Given the description of an element on the screen output the (x, y) to click on. 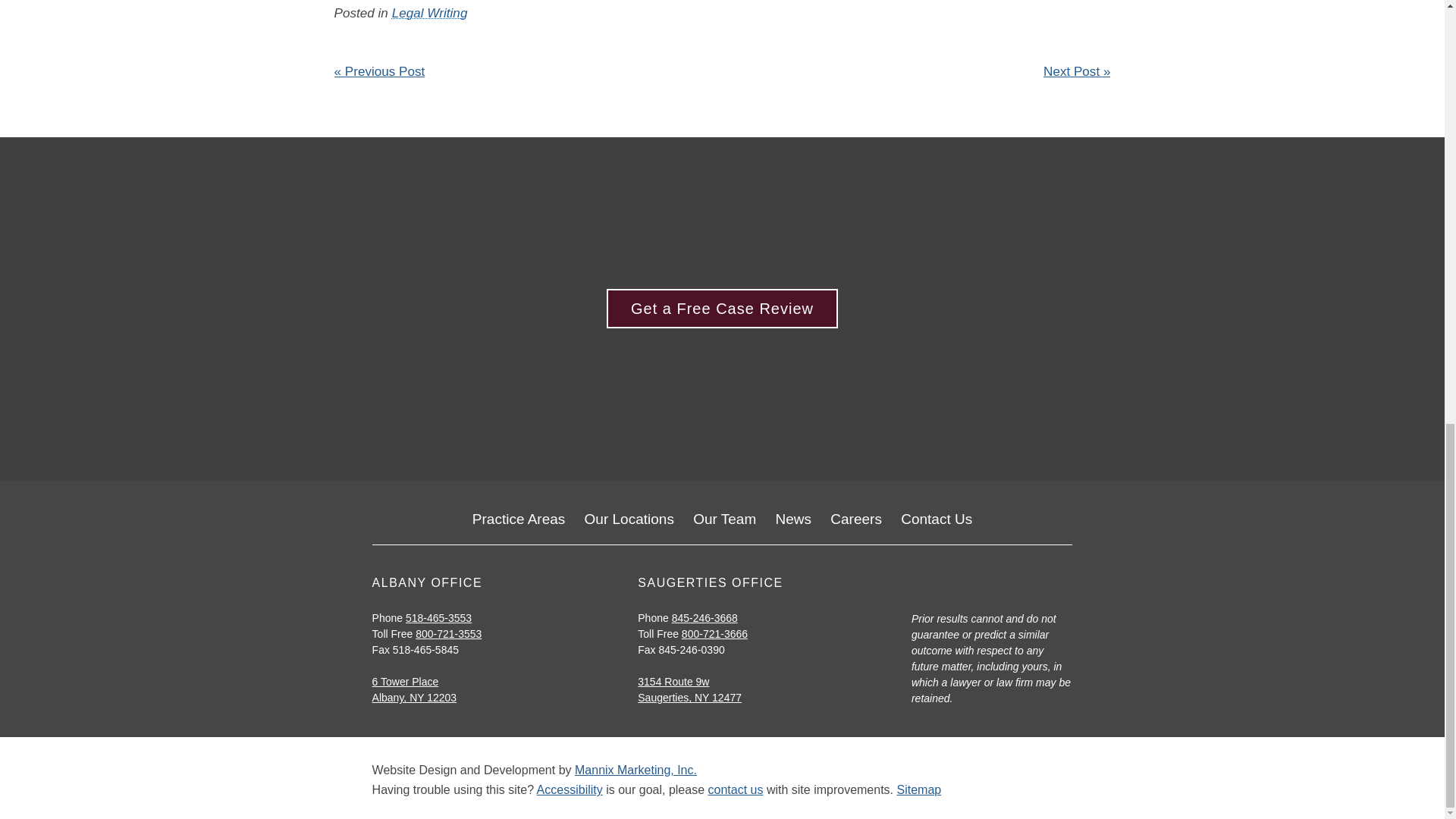
Legal Writing (429, 12)
Careers (855, 519)
Opens in a new window (673, 681)
Opens in a new window (405, 681)
News (794, 519)
Contact Us (936, 519)
Practice Areas (518, 519)
Opens in a new window (636, 769)
Our Team (724, 519)
Get a Free Case Review (722, 308)
Our Locations (629, 519)
